Given the description of an element on the screen output the (x, y) to click on. 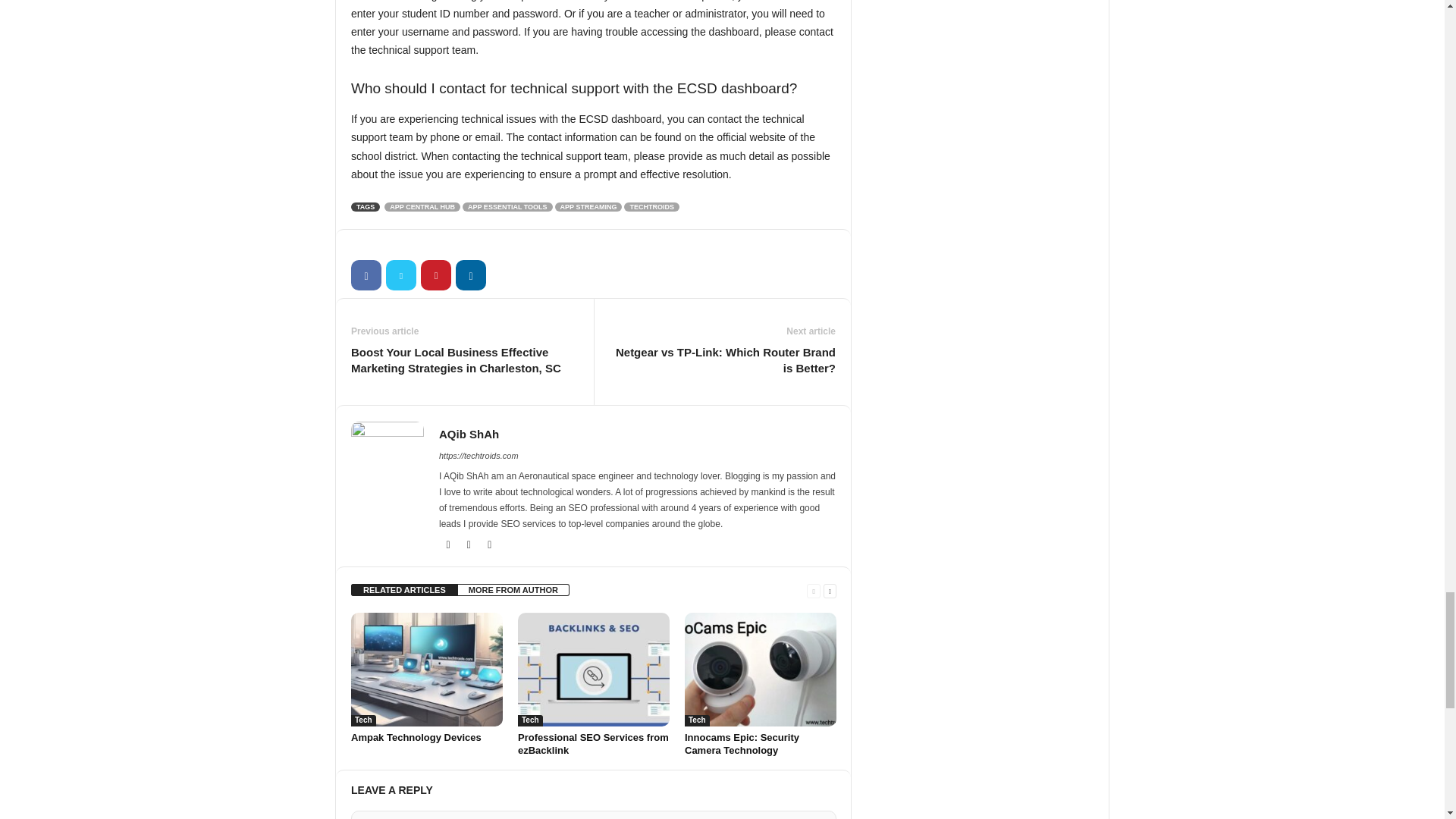
Facebook (365, 275)
bottomFacebookLike (390, 245)
